Given the description of an element on the screen output the (x, y) to click on. 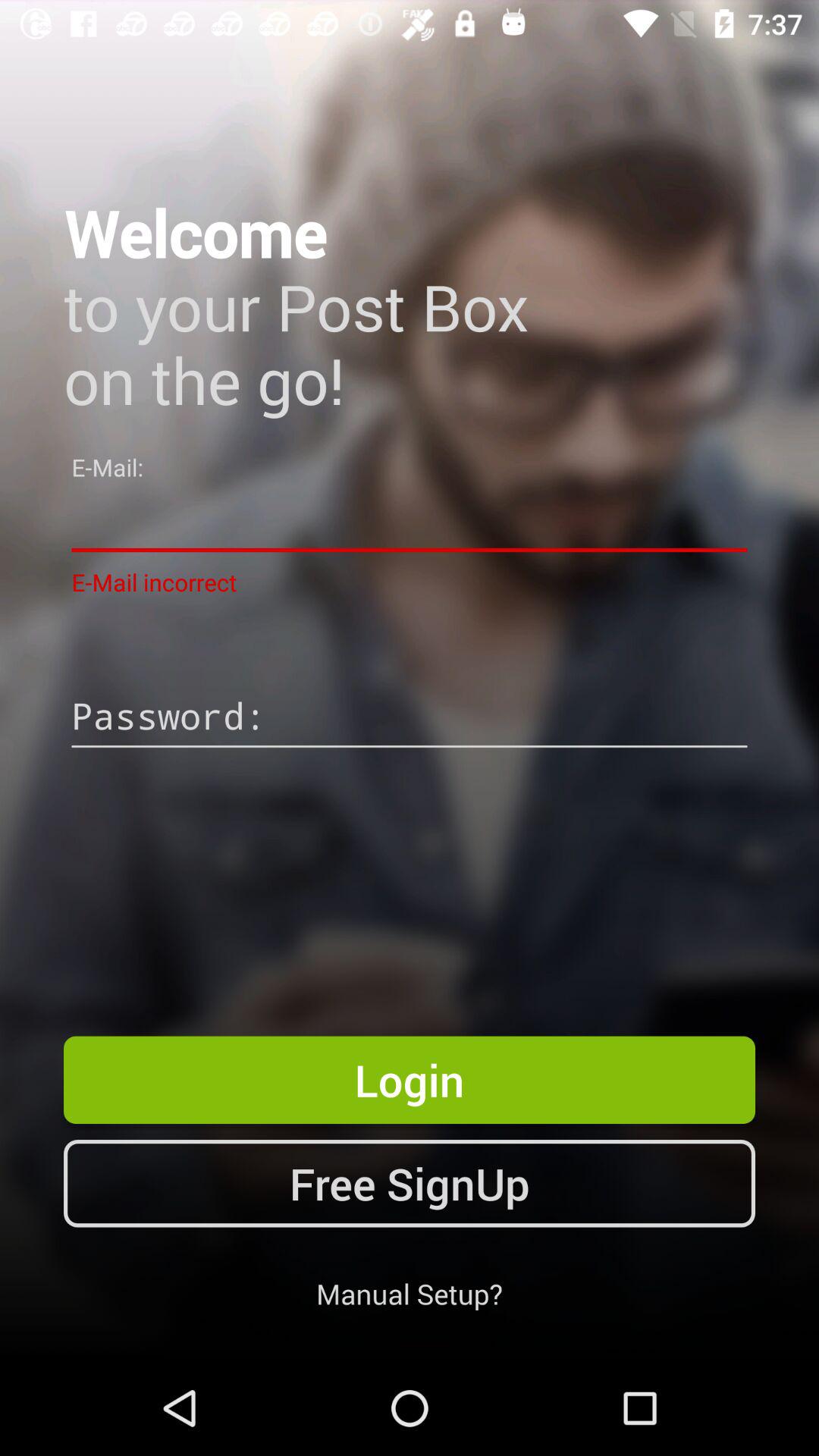
click the app below the e-mail incorrect item (409, 718)
